Given the description of an element on the screen output the (x, y) to click on. 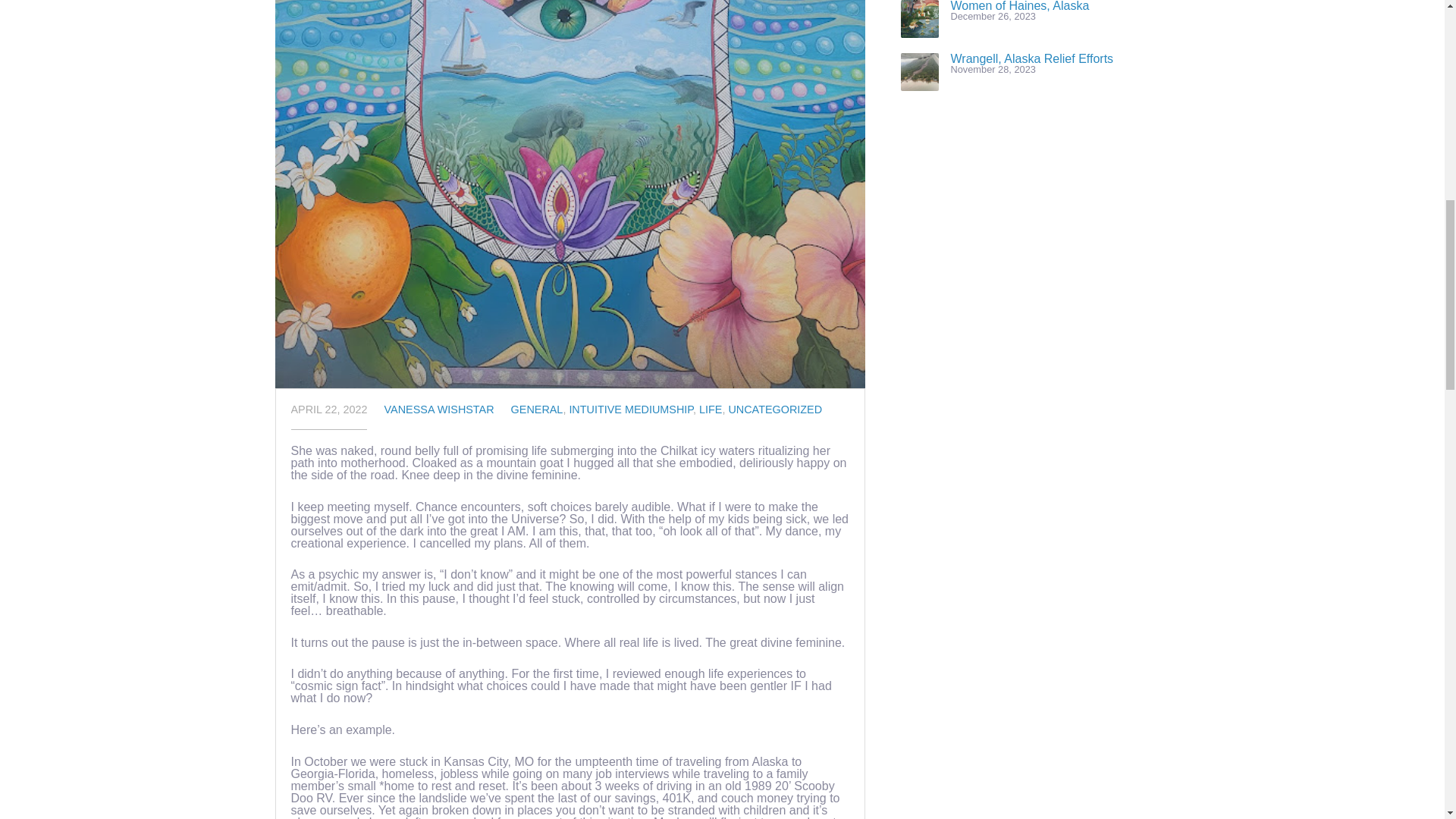
View all posts by Vanessa Wishstar (439, 409)
